Given the description of an element on the screen output the (x, y) to click on. 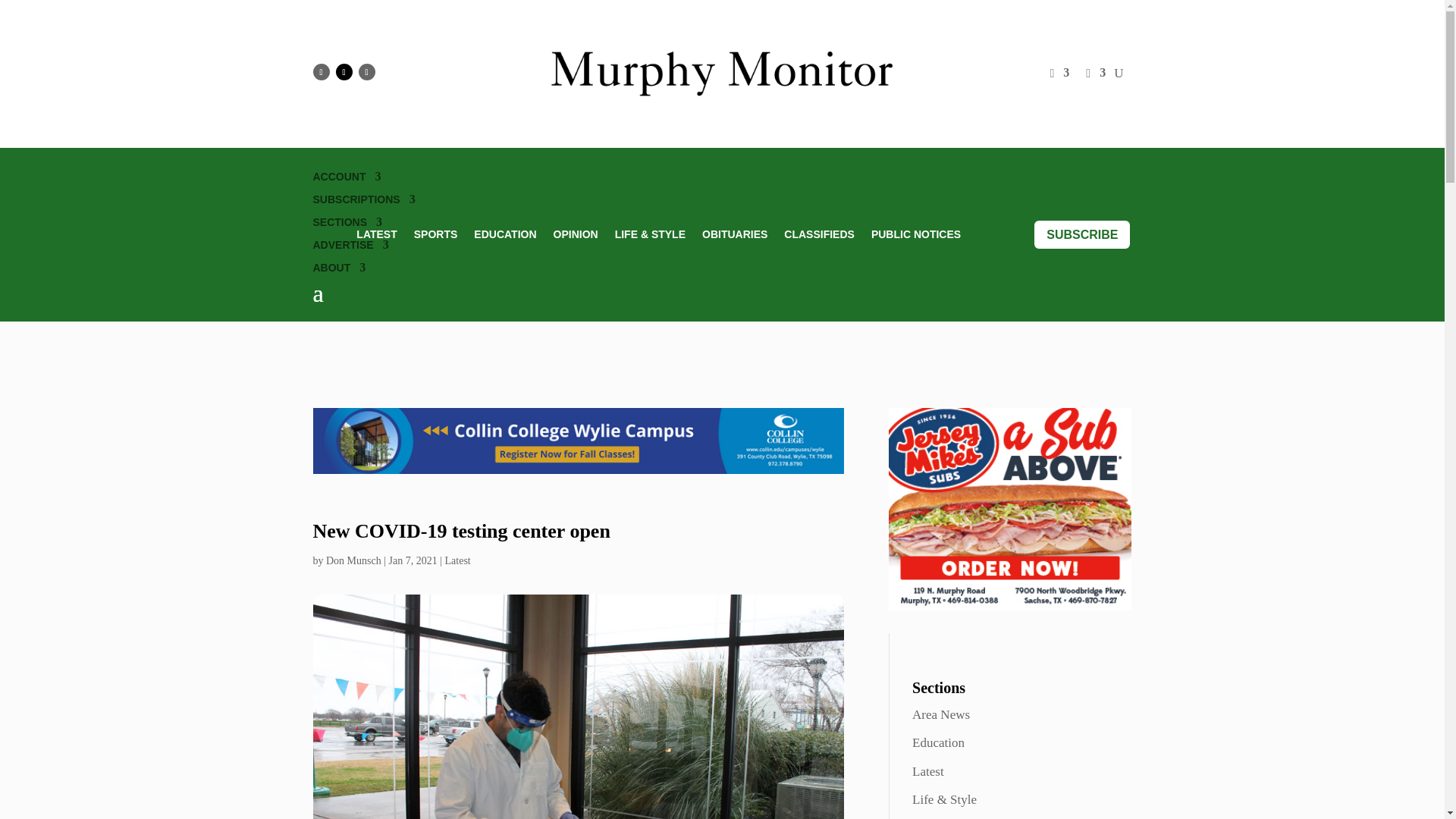
logo-wylie-news-plus-tagline (721, 73)
COVID testing (578, 706)
ADVERTISE (350, 247)
Follow on Facebook (321, 71)
ABOUT (339, 270)
SECTIONS (347, 225)
Follow on Instagram (366, 71)
Posts by Don Munsch (353, 560)
ACCOUNT (346, 179)
SUBSCRIPTIONS (363, 202)
Follow on X (343, 71)
Jersey Mikes 15095 Web banner Above 300x250 (1009, 508)
